Given the description of an element on the screen output the (x, y) to click on. 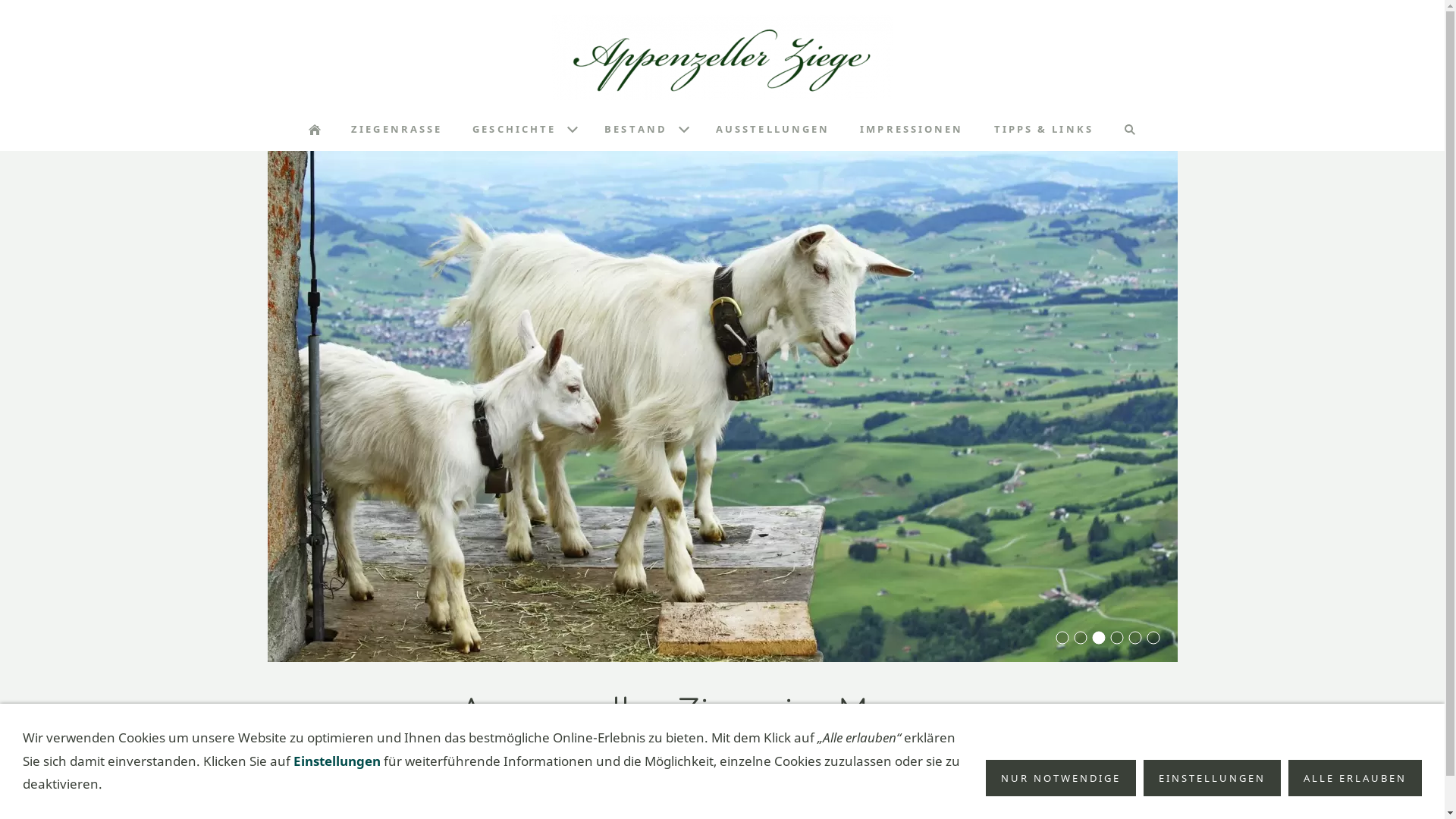
NUR NOTWENDIGE Element type: text (1060, 777)
ALLE ERLAUBEN Element type: text (1354, 777)
EINSTELLUNGEN Element type: text (1211, 777)
AUSSTELLUNGEN Element type: text (772, 128)
Einstellungen Element type: text (336, 760)
ZIEGENRASSE Element type: text (396, 128)
IMPRESSIONEN Element type: text (911, 128)
BESTAND Element type: text (644, 128)
BILDNACHWEIS Element type: text (770, 789)
DATENSCHUTZ Element type: text (672, 789)
GESCHICHTE Element type: text (523, 128)
COOKIES Element type: text (852, 789)
KONTAKT Element type: text (592, 789)
TIPPS & LINKS Element type: text (1042, 128)
